Given the description of an element on the screen output the (x, y) to click on. 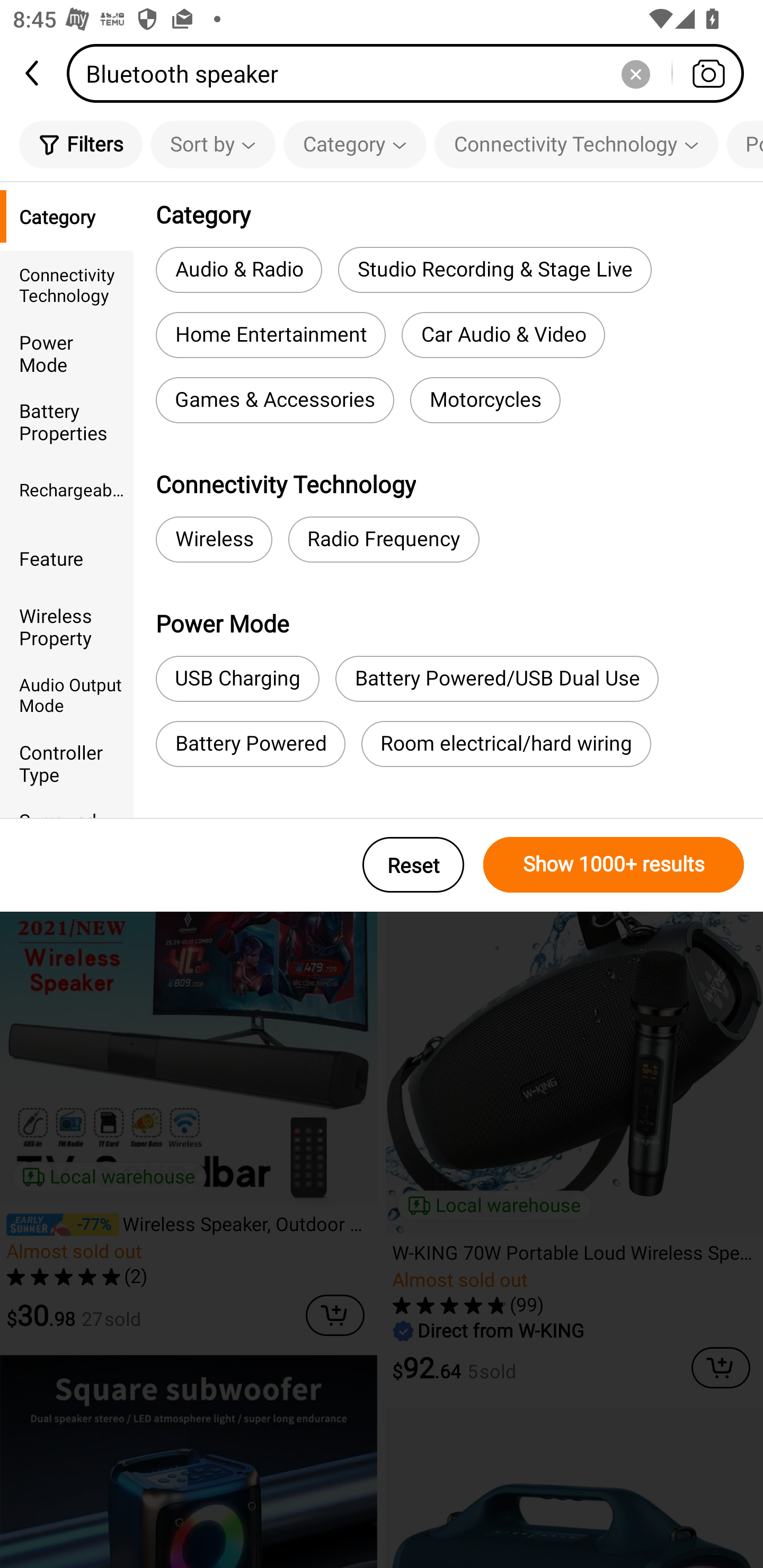
back (33, 72)
Bluetooth speaker (411, 73)
Delete search history (635, 73)
Search by photo (708, 73)
Filters (80, 143)
Sort by (212, 143)
Category (354, 143)
Connectivity Technology (576, 143)
Category (66, 215)
Audio & Radio (238, 269)
Studio Recording & Stage Live (494, 269)
Connectivity Technology (66, 284)
Home Entertainment (270, 334)
Car Audio & Video (503, 334)
Power Mode (66, 352)
Games & Accessories (274, 400)
Motorcycles (485, 400)
Battery Properties (66, 421)
Rechargeable Battery (66, 489)
Wireless (213, 538)
Radio Frequency (383, 538)
Feature (66, 557)
Wireless Property (66, 626)
USB Charging (237, 678)
Battery Powered/USB Dual Use (496, 678)
Audio Output Mode (66, 694)
Battery Powered (250, 743)
Room electrical/hard wiring (505, 743)
Controller Type (66, 762)
Reset (412, 864)
Show 1000+ results (612, 864)
